Given the description of an element on the screen output the (x, y) to click on. 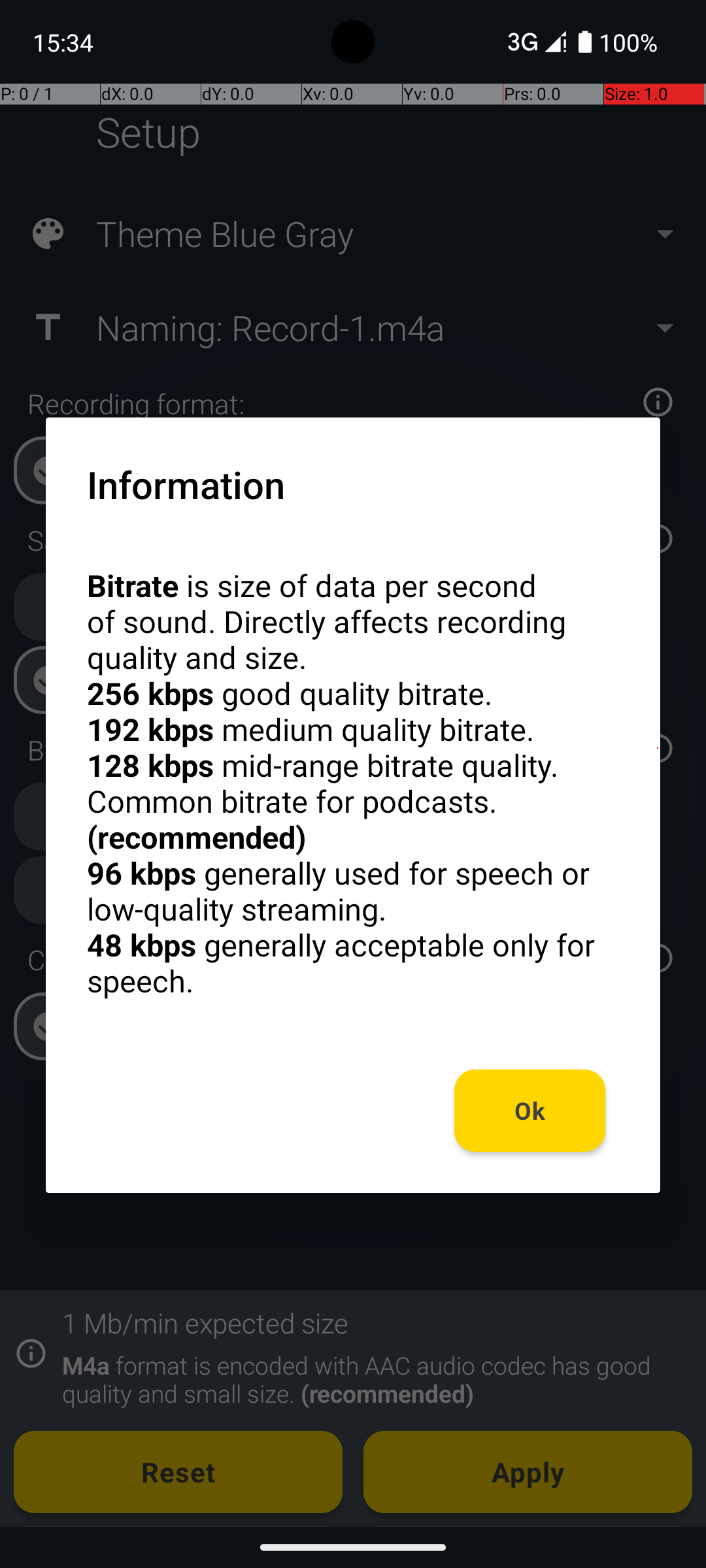
Information Element type: android.widget.TextView (185, 483)
Bitrate is size of data per second of sound. Directly affects recording quality and size. 
256 kbps good quality bitrate. 
192 kbps medium quality bitrate. 
128 kbps mid-range bitrate quality. Common bitrate for podcasts. (recommended) 
96 kbps generally used for speech or low-quality streaming. 
48 kbps generally acceptable only for speech.  Element type: android.widget.TextView (352, 782)
Ok Element type: android.widget.Button (529, 1110)
